Given the description of an element on the screen output the (x, y) to click on. 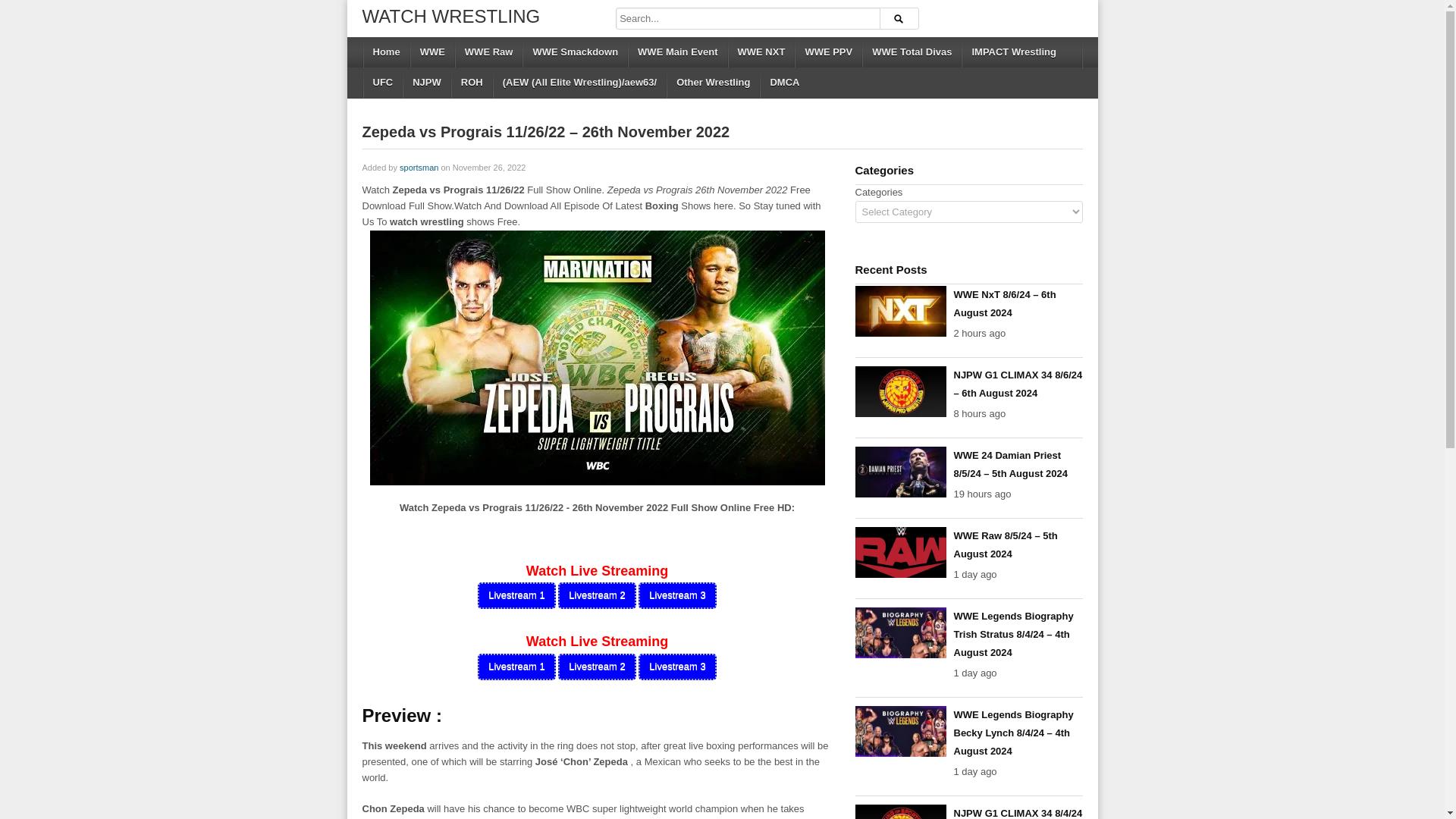
sportsman (418, 166)
WWE PPV (827, 51)
Livestream 1 (515, 595)
ROH (470, 82)
IMPACT Wrestling (1012, 51)
Livestream 3 (677, 595)
Livestream 2 (595, 666)
Livestream 2 (595, 595)
WATCH WRESTLING (451, 15)
Livestream 3 (677, 666)
